Given the description of an element on the screen output the (x, y) to click on. 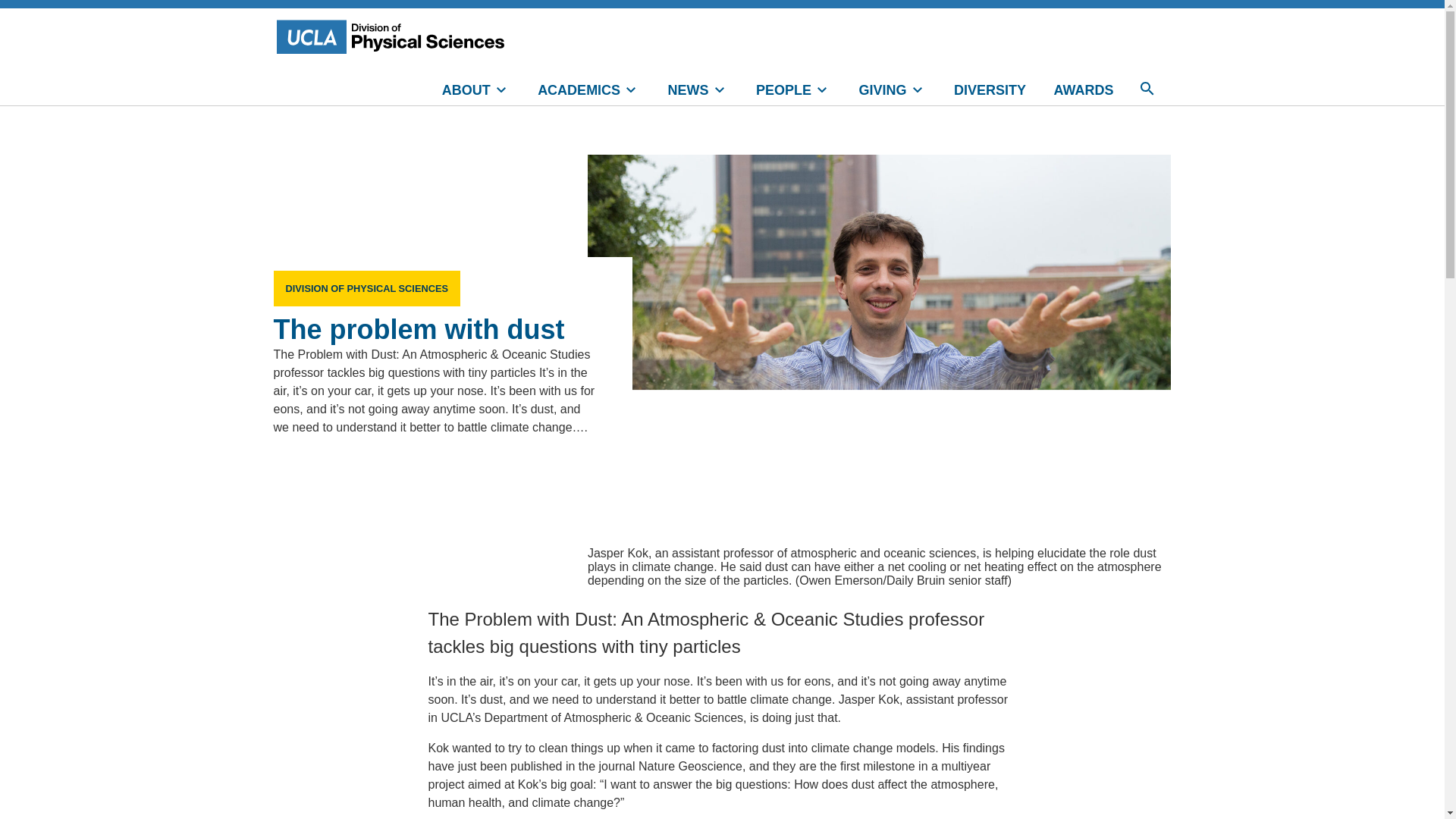
PEOPLE (793, 88)
Search Icon (1146, 88)
AWARDS (1083, 88)
ACADEMICS (588, 88)
NEWS (698, 88)
Search Icon (1147, 88)
